Given the description of an element on the screen output the (x, y) to click on. 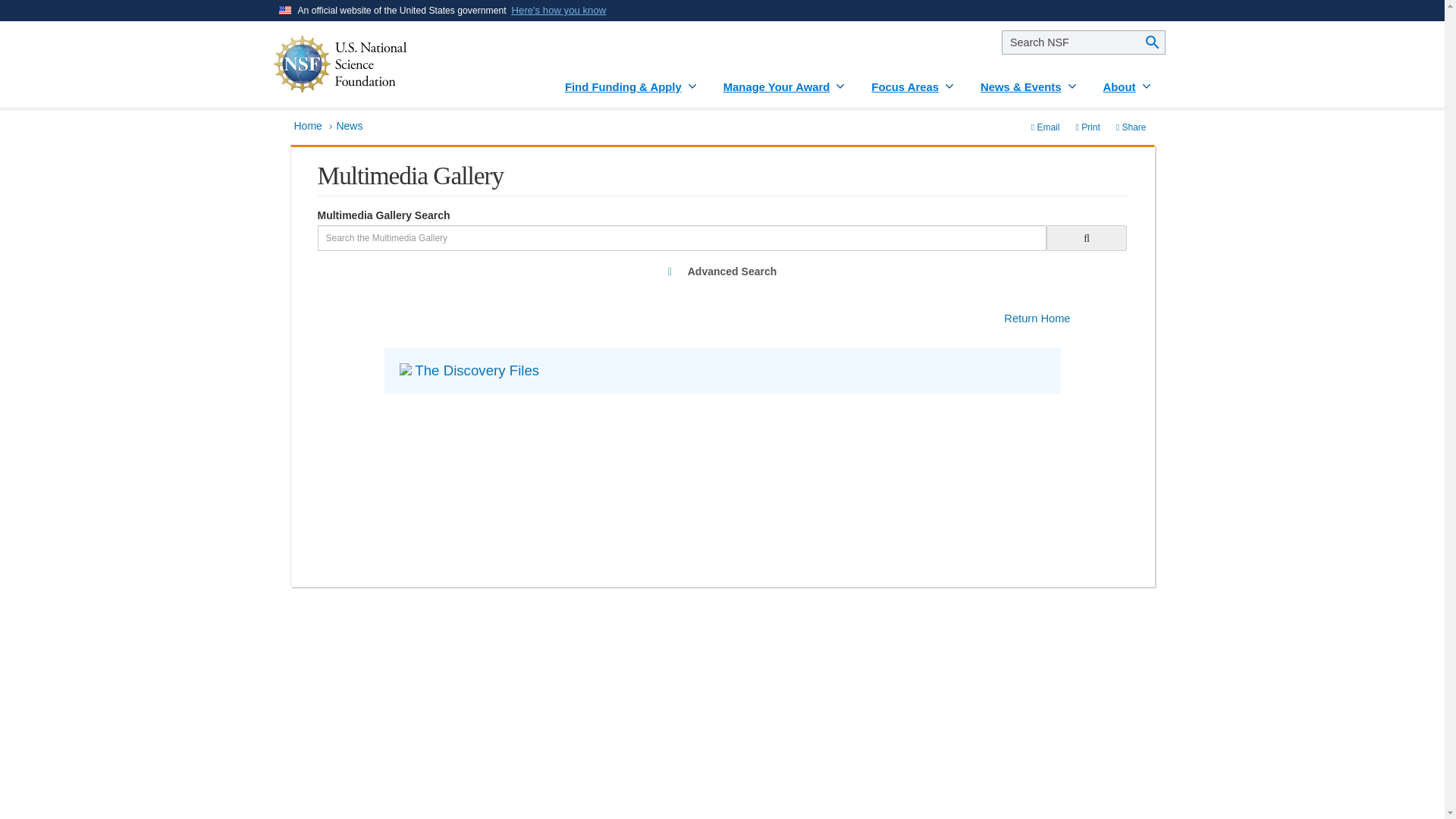
News (349, 125)
Focus Areas (913, 81)
Share (1131, 127)
 The Discovery Files (474, 370)
Manage Your Award (785, 81)
NSF - National Science Foundation - Home (386, 64)
Print (1087, 127)
Return Home (1037, 318)
Home (307, 125)
Here's how you know (559, 10)
